Given the description of an element on the screen output the (x, y) to click on. 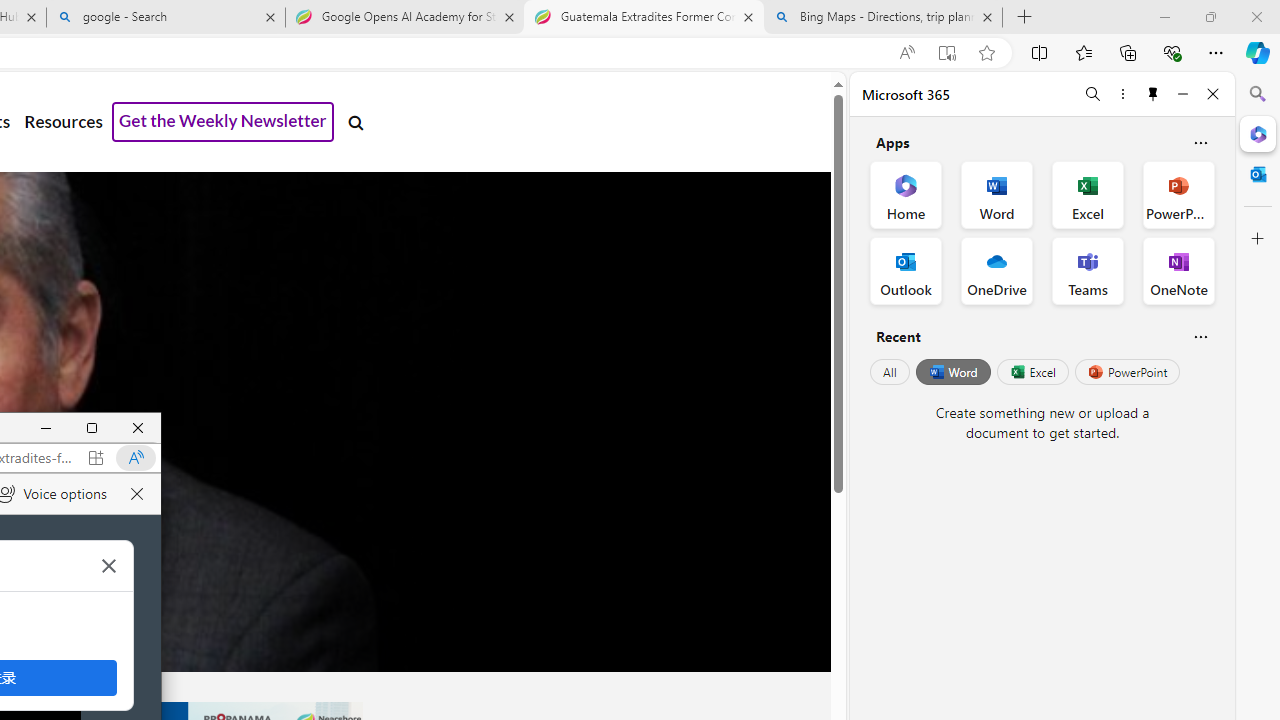
Maximize (92, 428)
Excel (1031, 372)
App available. Install X (95, 457)
Teams Office App (1087, 270)
Is this helpful? (1200, 336)
OneNote Office App (1178, 270)
